Given the description of an element on the screen output the (x, y) to click on. 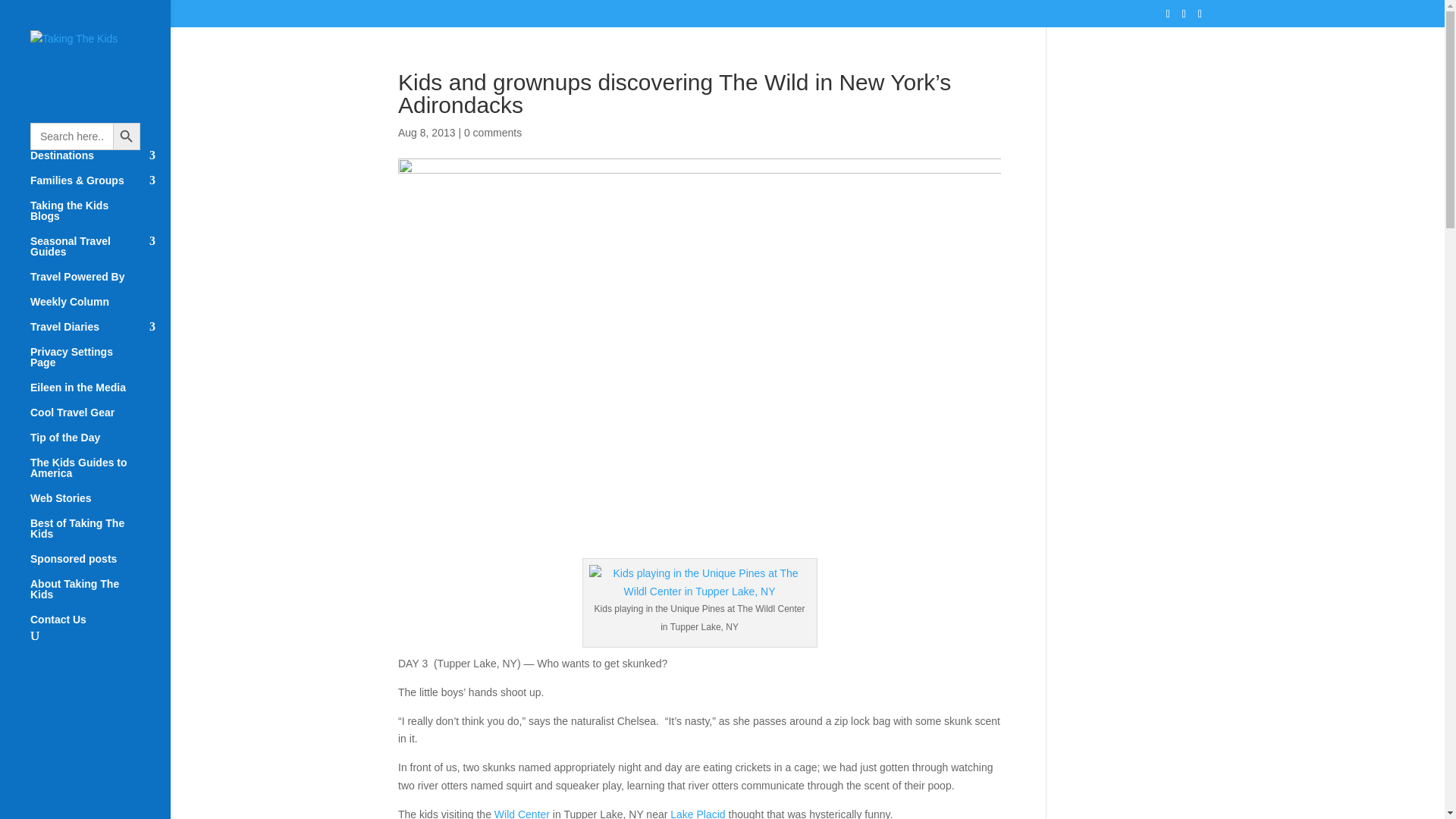
Cool Travel Gear (100, 419)
Search Button (126, 135)
Destinations (100, 162)
Web Stories (100, 505)
Taking the Kids Blogs (100, 217)
Best of Taking The Kids (100, 535)
Seasonal Travel Guides (100, 253)
Privacy Settings Page (100, 364)
The Kids Guides to America (100, 475)
Tip of the Day (100, 444)
Weekly Column (100, 308)
Travel Diaries (100, 333)
Travel Powered By (100, 283)
Eileen in the Media (100, 394)
